Given the description of an element on the screen output the (x, y) to click on. 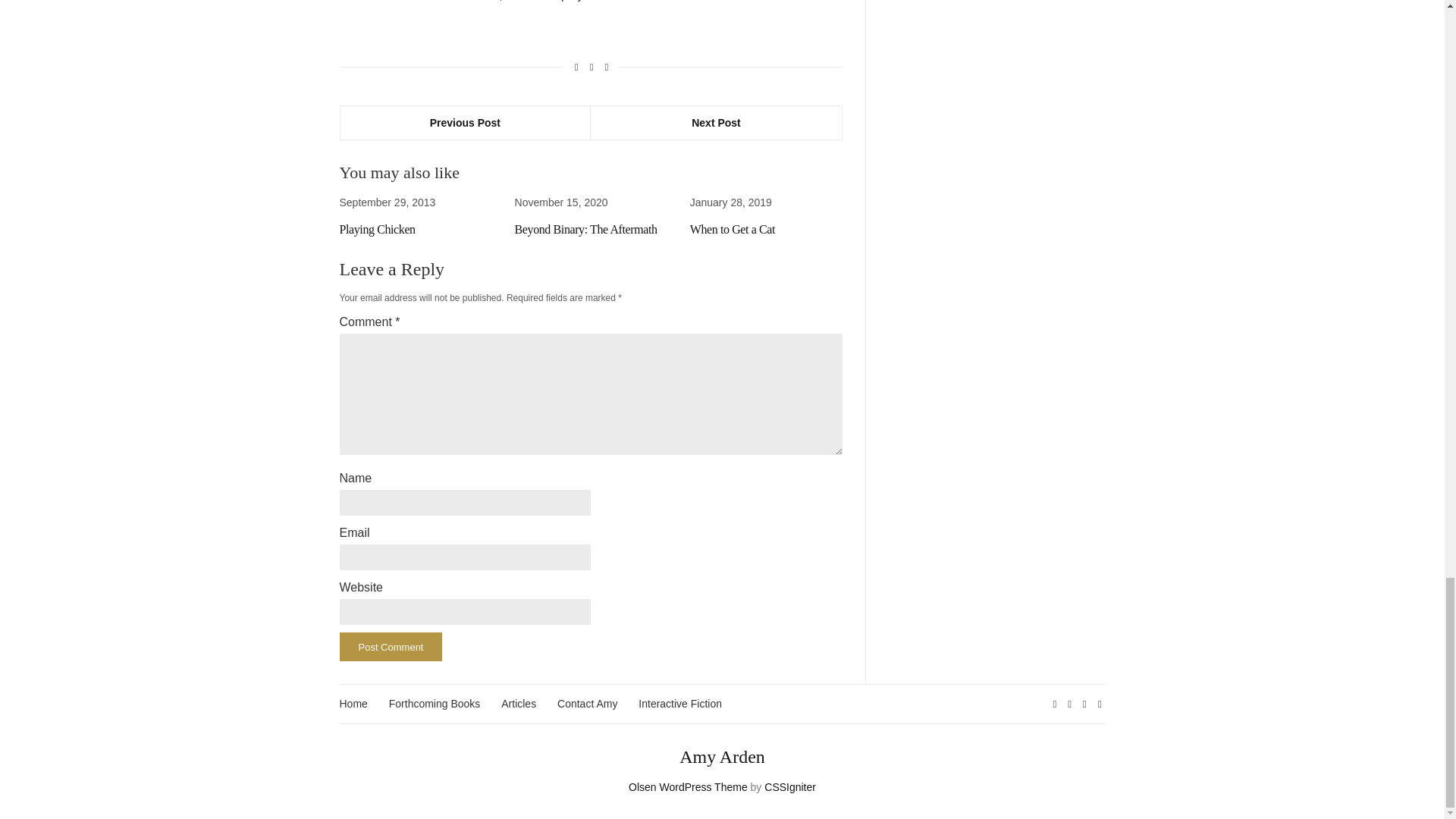
Playing Chicken (376, 228)
Next Post (716, 122)
Post Comment (390, 646)
Blogging theme for WordPress (688, 787)
Beyond Binary: The Aftermath (586, 228)
Post Comment (390, 646)
Previous Post (465, 122)
When to Get a Cat (732, 228)
